Given the description of an element on the screen output the (x, y) to click on. 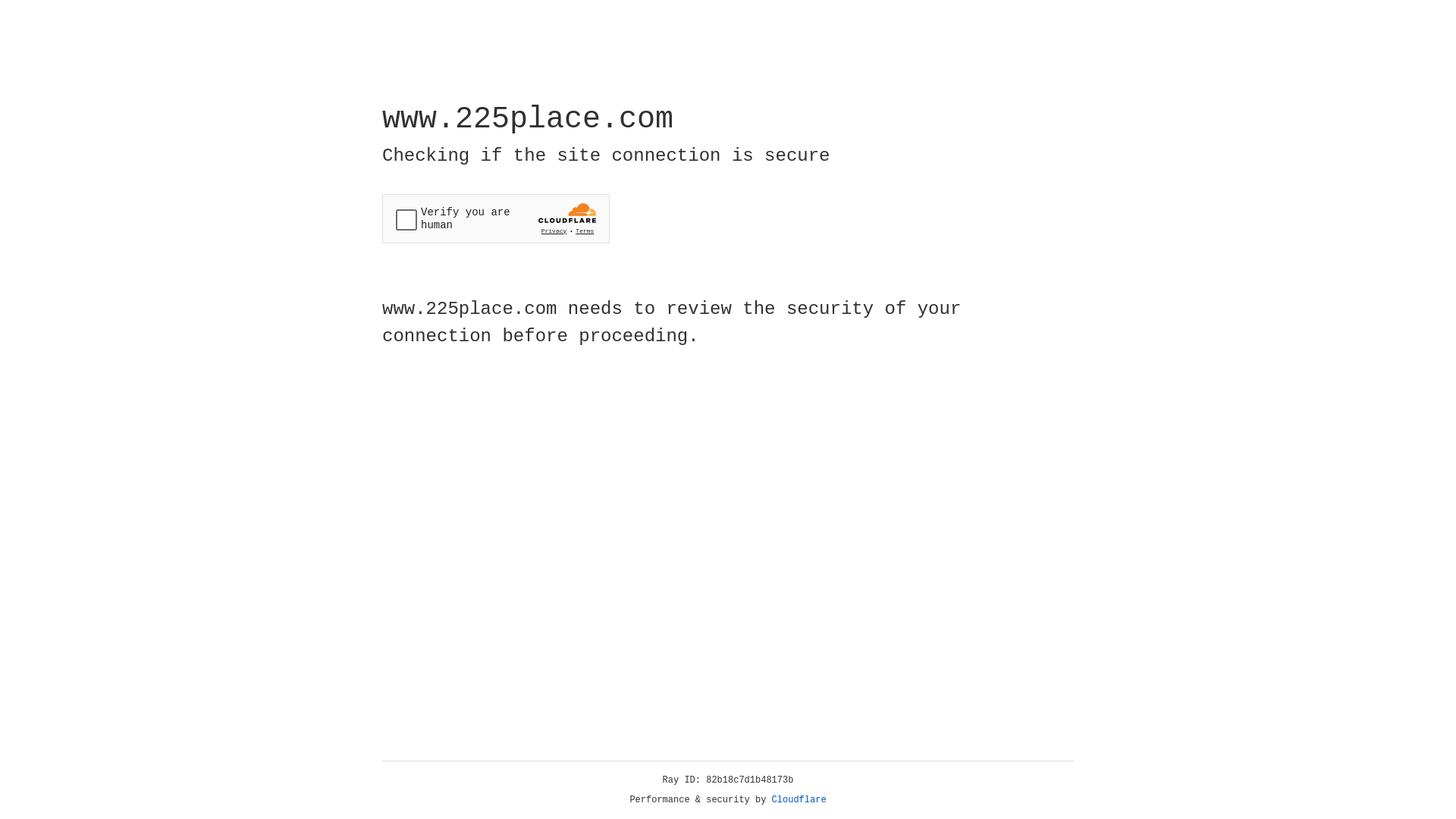
Widget containing a Cloudflare security challenge Element type: hover (495, 218)
Cloudflare Element type: text (798, 799)
